Given the description of an element on the screen output the (x, y) to click on. 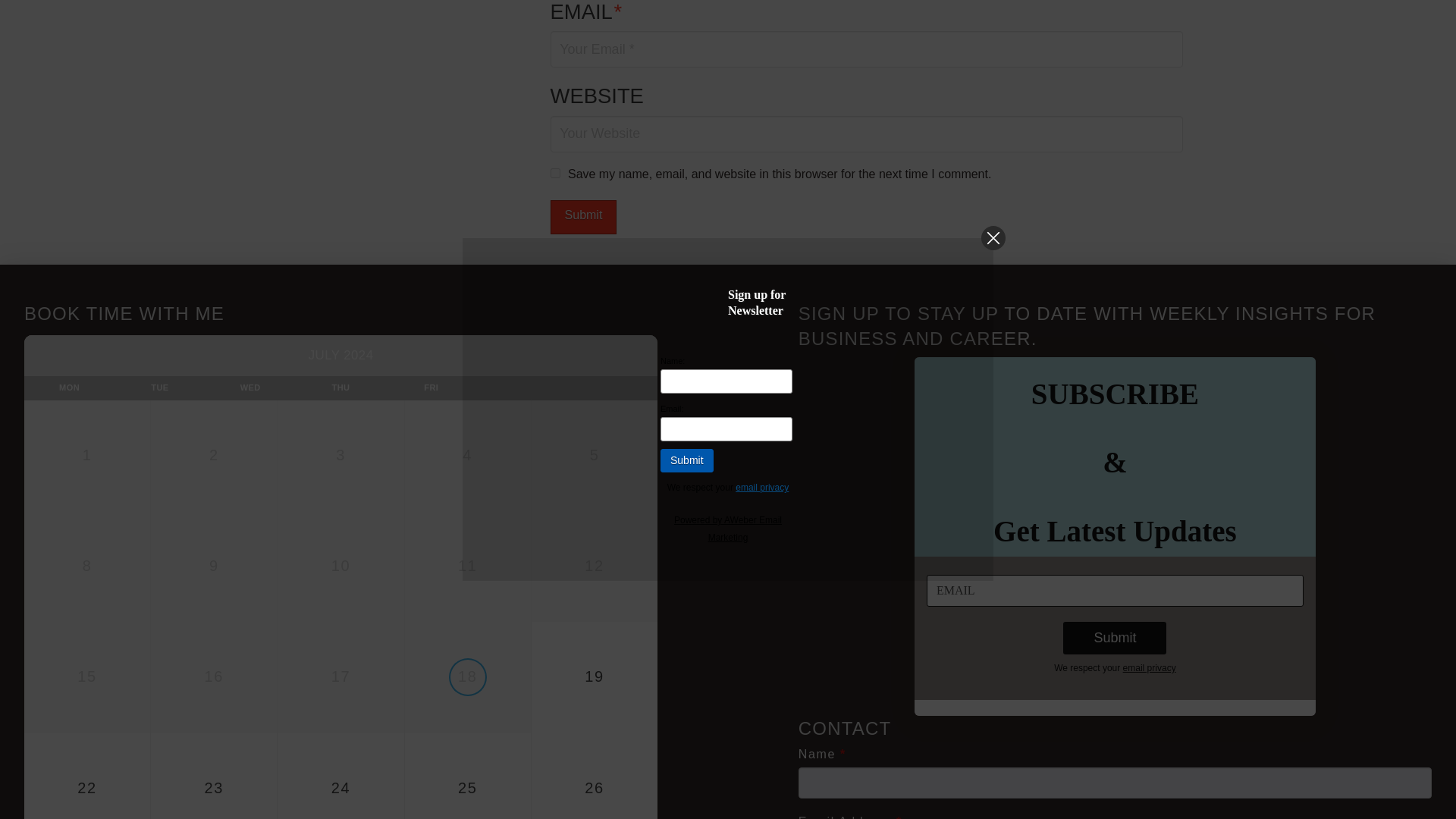
Submit (583, 216)
